Given the description of an element on the screen output the (x, y) to click on. 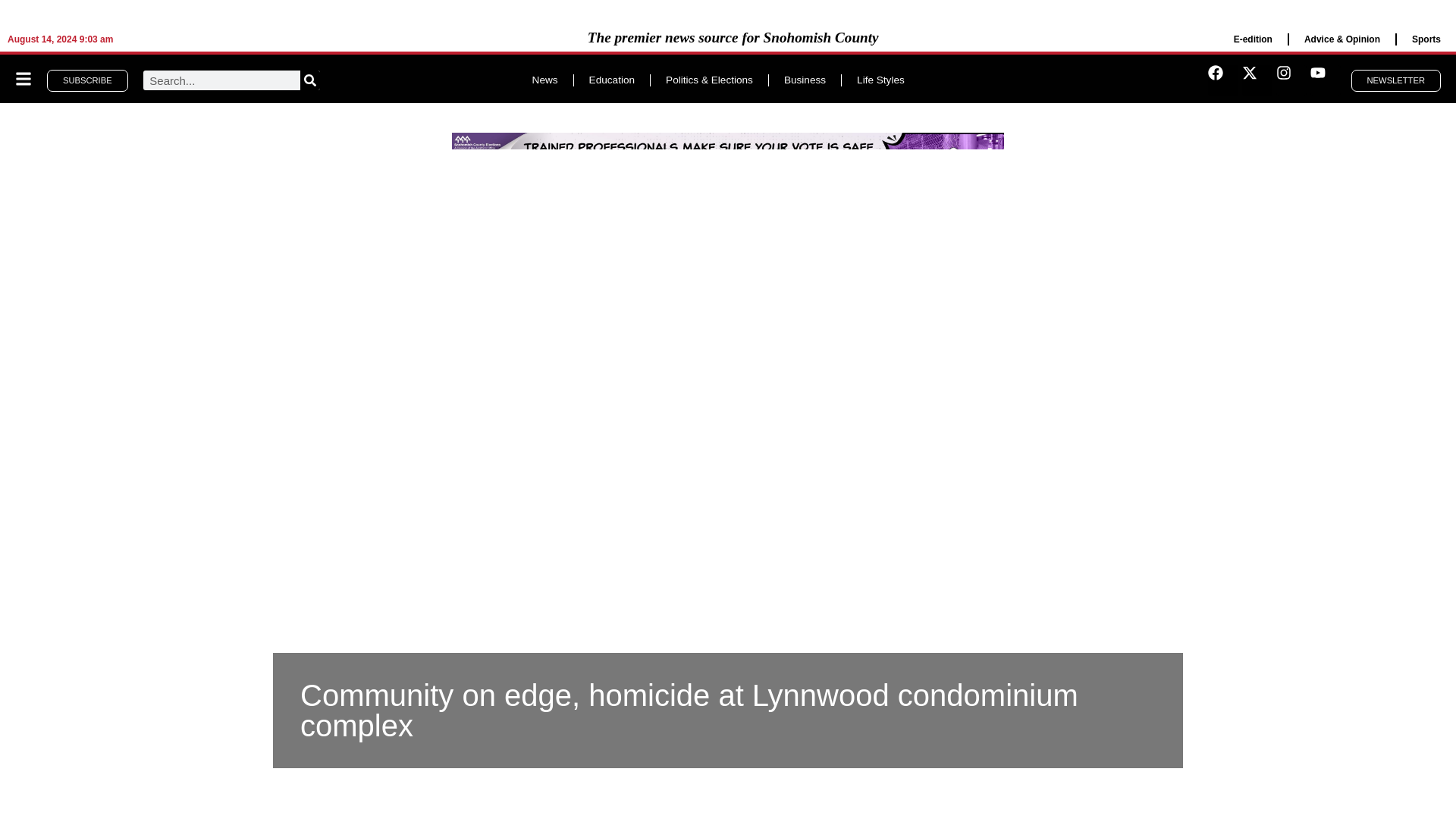
NEWSLETTER (1396, 80)
Education (611, 80)
Business (804, 80)
News (544, 80)
E-edition (1252, 39)
SUBSCRIBE (87, 80)
Life Styles (880, 80)
